Given the description of an element on the screen output the (x, y) to click on. 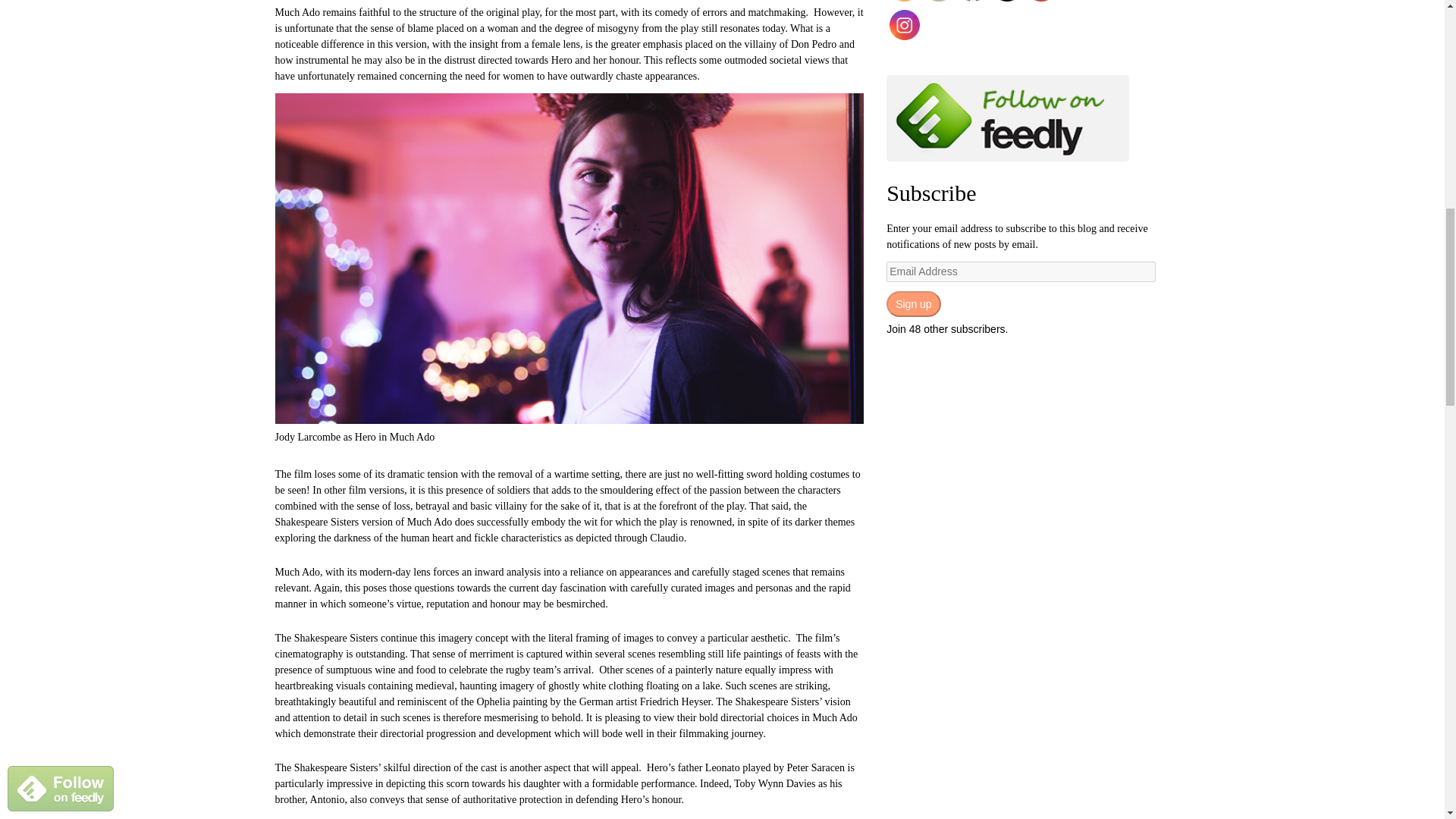
RSS (904, 0)
